Given the description of an element on the screen output the (x, y) to click on. 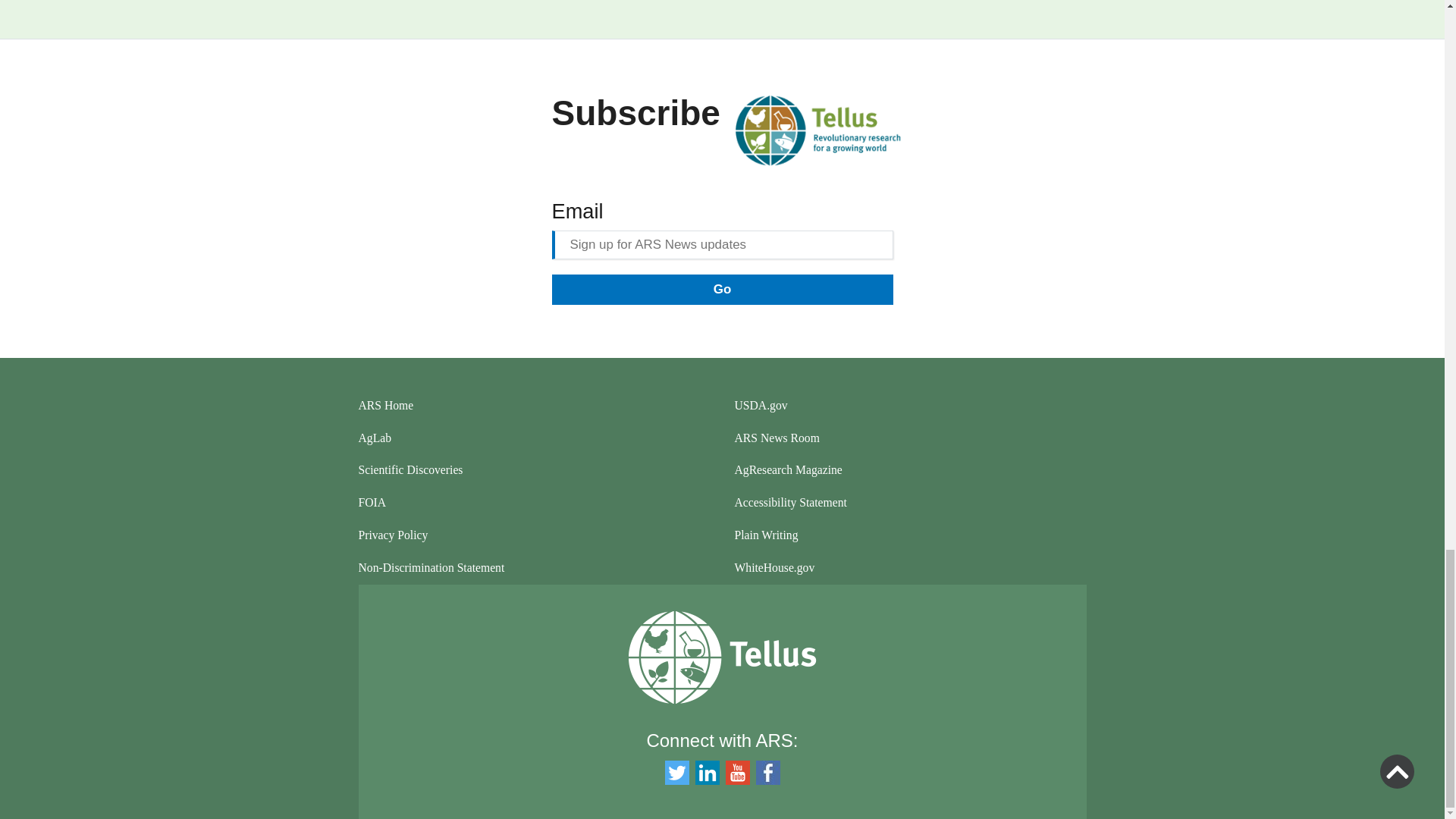
ARS News Room (909, 438)
ARS Home (534, 405)
AgLab (534, 438)
Go (722, 289)
USDA.gov (909, 405)
Go (722, 289)
